Given the description of an element on the screen output the (x, y) to click on. 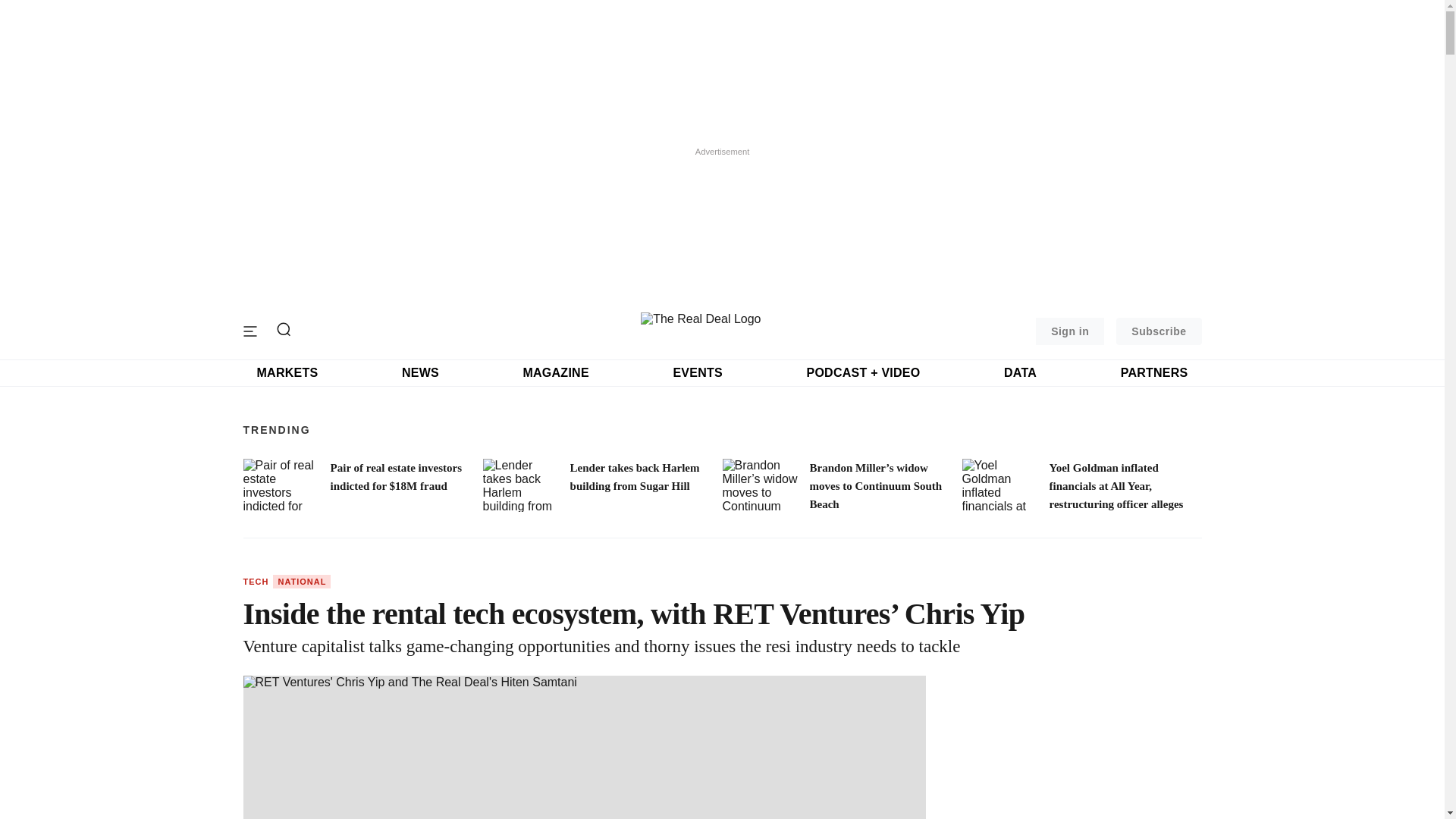
NEWS (420, 373)
MARKETS (286, 373)
MAGAZINE (555, 373)
EVENTS (697, 373)
Subscribe (1158, 330)
Sign in (1069, 330)
